Given the description of an element on the screen output the (x, y) to click on. 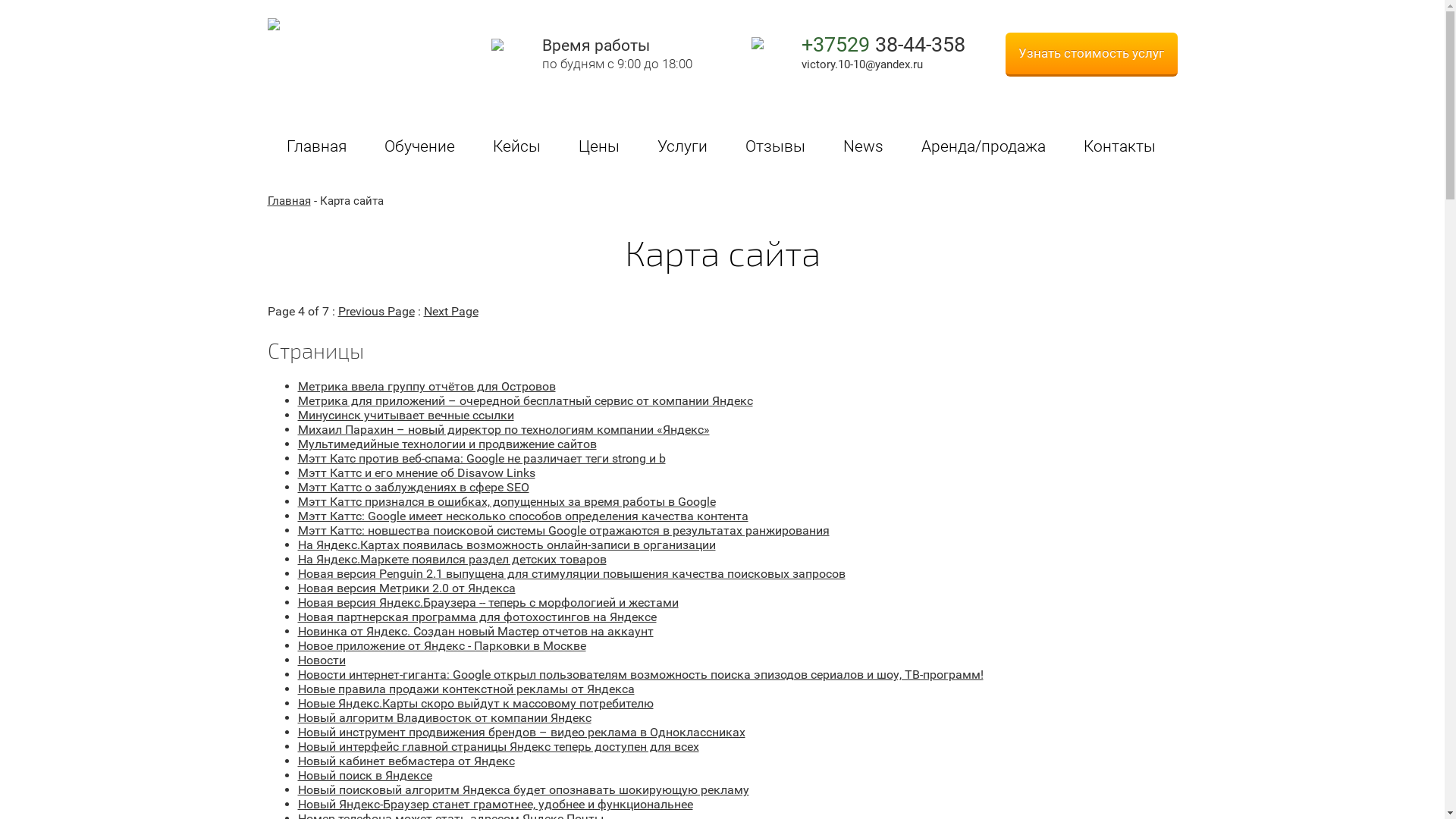
Next Page Element type: text (450, 311)
Previous Page Element type: text (376, 311)
News Element type: text (862, 147)
victory.10-10@yandex.ru Element type: text (861, 64)
